Given the description of an element on the screen output the (x, y) to click on. 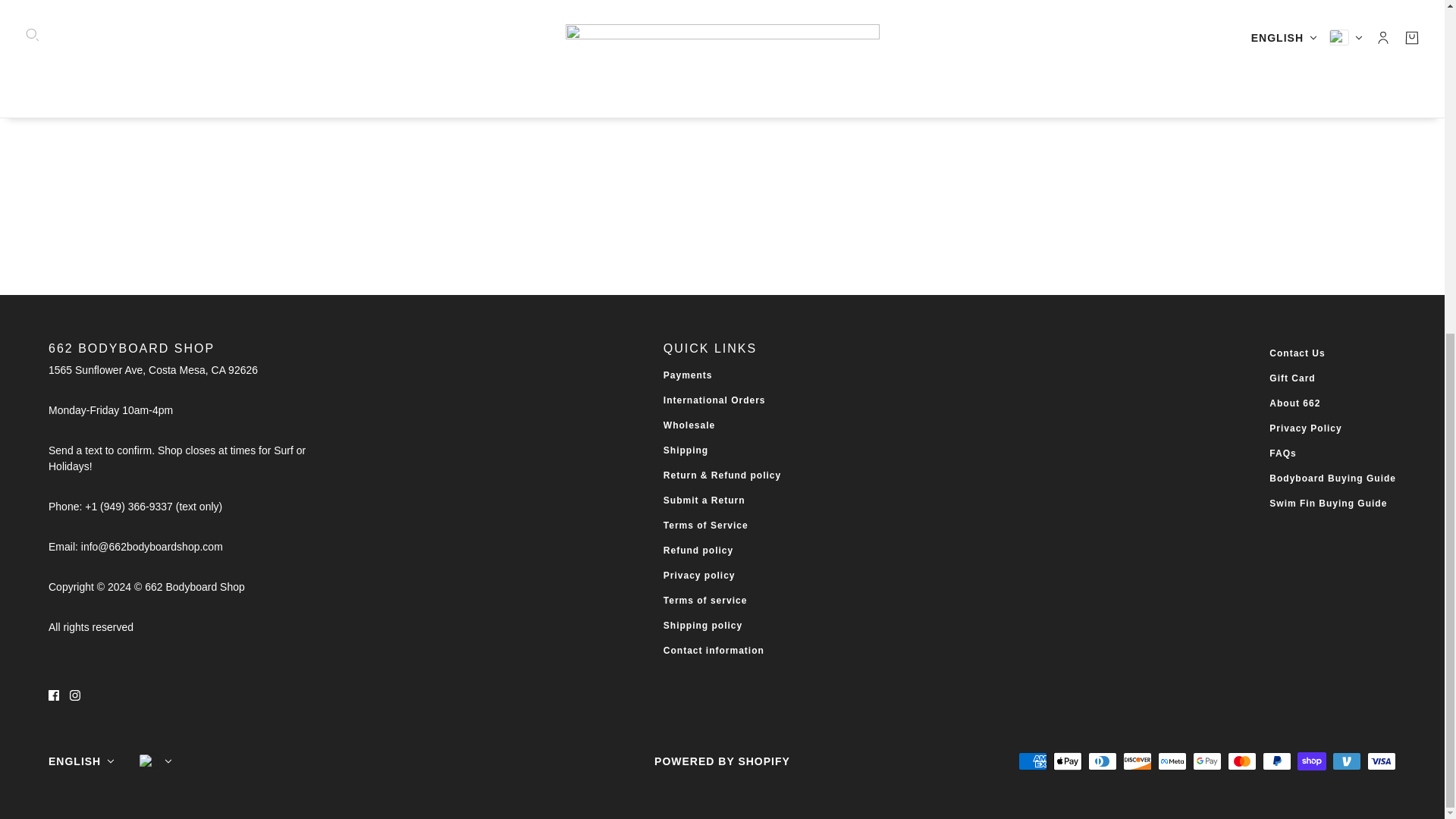
Shipping policy (702, 624)
Gift Card (1291, 378)
Submit a Return (704, 500)
About 662 (1294, 403)
Privacy policy (699, 575)
Bodyboard Buying Guide (1332, 478)
Terms of service (705, 600)
Terms of Service (705, 525)
International Orders (714, 399)
Refund policy (698, 550)
